Given the description of an element on the screen output the (x, y) to click on. 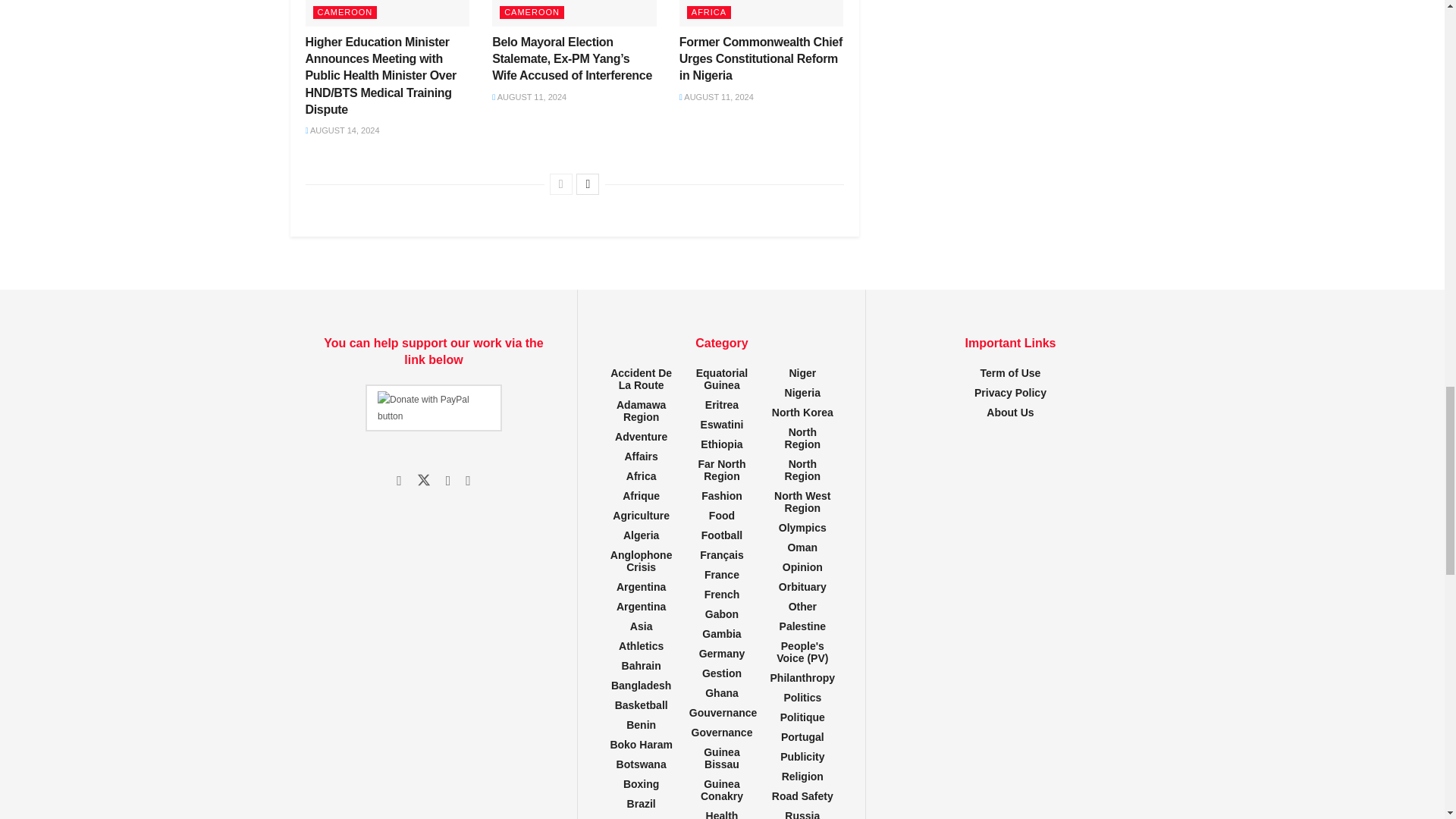
Previous (561, 183)
Next (587, 183)
PayPal - The safer, easier way to pay online! (433, 408)
